Given the description of an element on the screen output the (x, y) to click on. 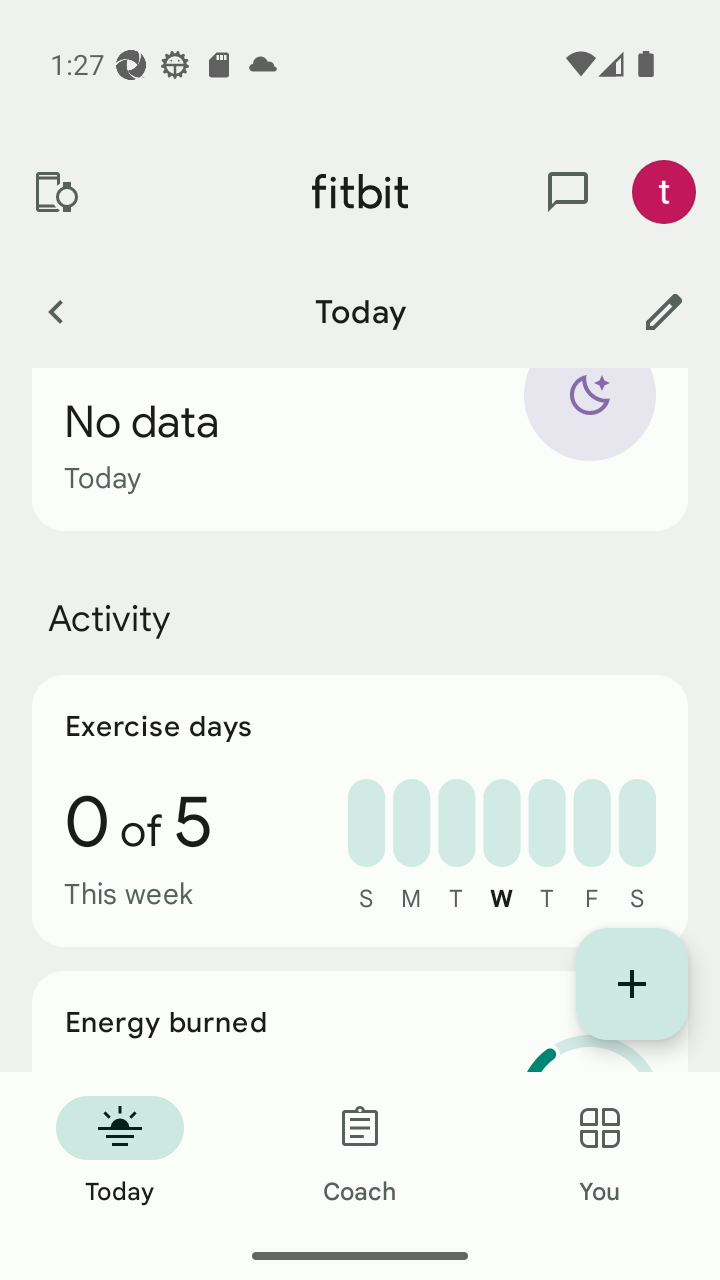
Devices and apps (55, 191)
messages and notifications (567, 191)
Previous Day (55, 311)
Customize (664, 311)
No data Today Sleep static arc (359, 449)
Exercise days 0 of 5 This week (359, 810)
Display list of quick log entries (632, 983)
Energy burned (359, 1021)
Coach (359, 1151)
You (600, 1151)
